Given the description of an element on the screen output the (x, y) to click on. 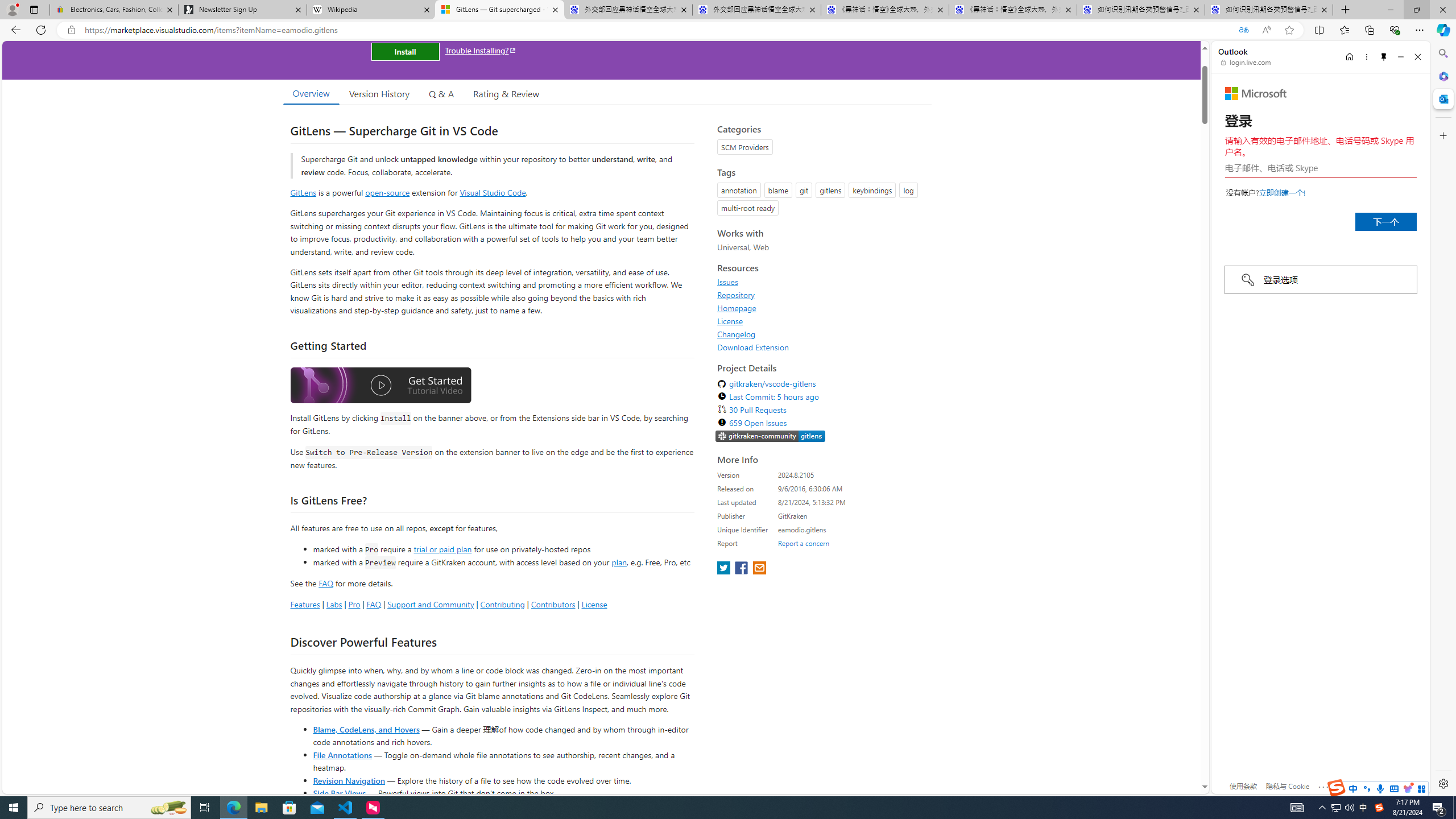
Support and Community (430, 603)
License (729, 320)
share extension on twitter (724, 568)
Issues (727, 281)
Version History (379, 92)
Report a concern (803, 542)
trial or paid plan (442, 548)
